Given the description of an element on the screen output the (x, y) to click on. 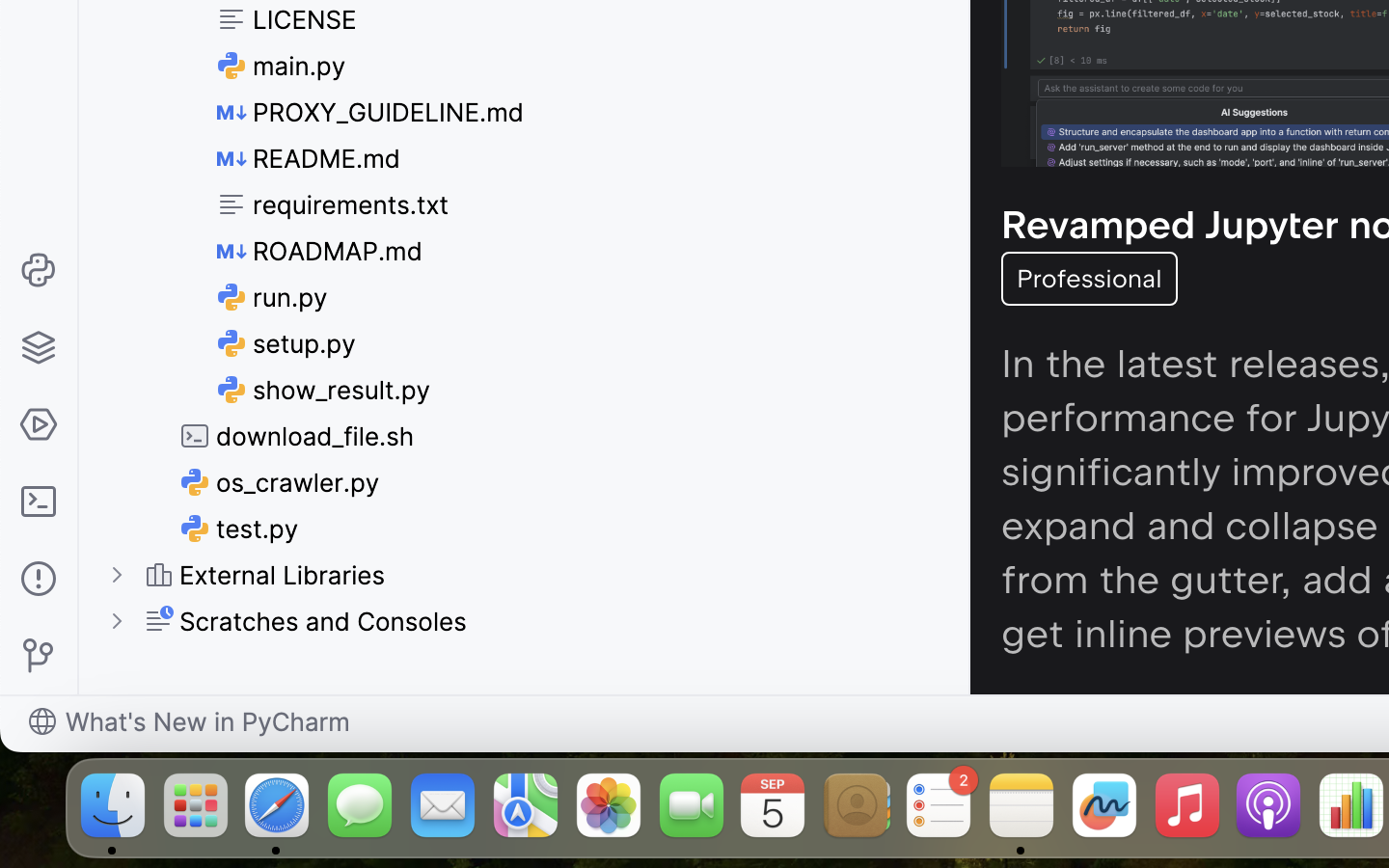
download_file.sh Element type: AXStaticText (297, 435)
ROADMAP.md Element type: AXStaticText (320, 250)
requirements.txt Element type: AXStaticText (333, 204)
show_result.py Element type: AXStaticText (323, 389)
main.py Element type: AXStaticText (282, 65)
